Given the description of an element on the screen output the (x, y) to click on. 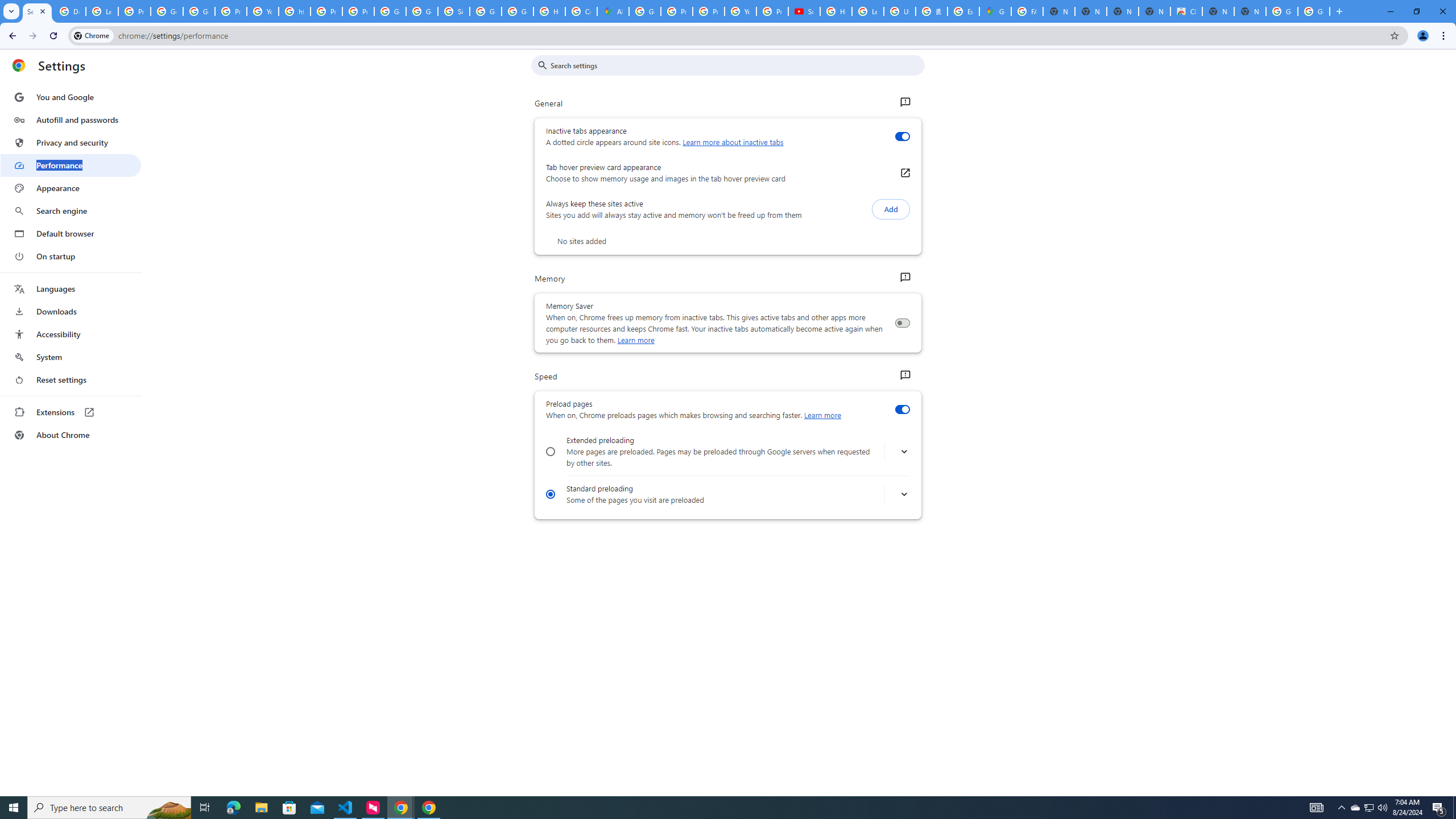
Delete photos & videos - Computer - Google Photos Help (69, 11)
Performance (70, 164)
Add to the "always keep these sites active" list (891, 209)
Appearance (70, 187)
New Tab (1249, 11)
Google Images (1313, 11)
Privacy Help Center - Policies Help (708, 11)
Preload pages (901, 409)
Learn how to find your photos - Google Photos Help (101, 11)
